Given the description of an element on the screen output the (x, y) to click on. 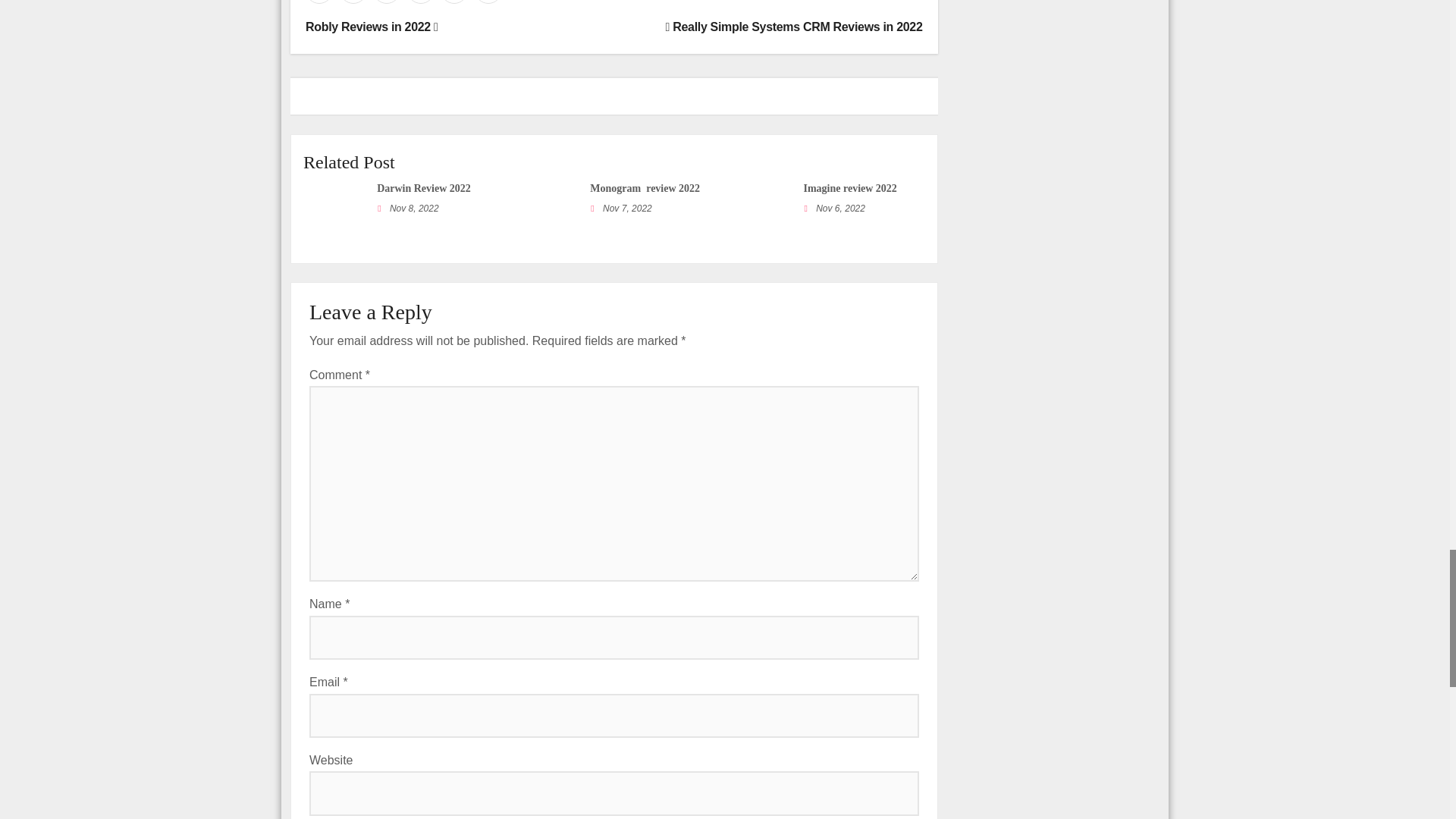
Darwin Review 2022 (423, 188)
Permalink to: Imagine review 2022 (849, 188)
Monogram  review 2022 (644, 188)
Permalink to: Darwin Review 2022 (423, 188)
Robly Reviews in 2022 (371, 26)
Nov 8, 2022 (414, 208)
Nov 7, 2022 (627, 208)
Nov 6, 2022 (839, 208)
Really Simple Systems CRM Reviews in 2022 (794, 26)
Imagine review 2022 (849, 188)
